Given the description of an element on the screen output the (x, y) to click on. 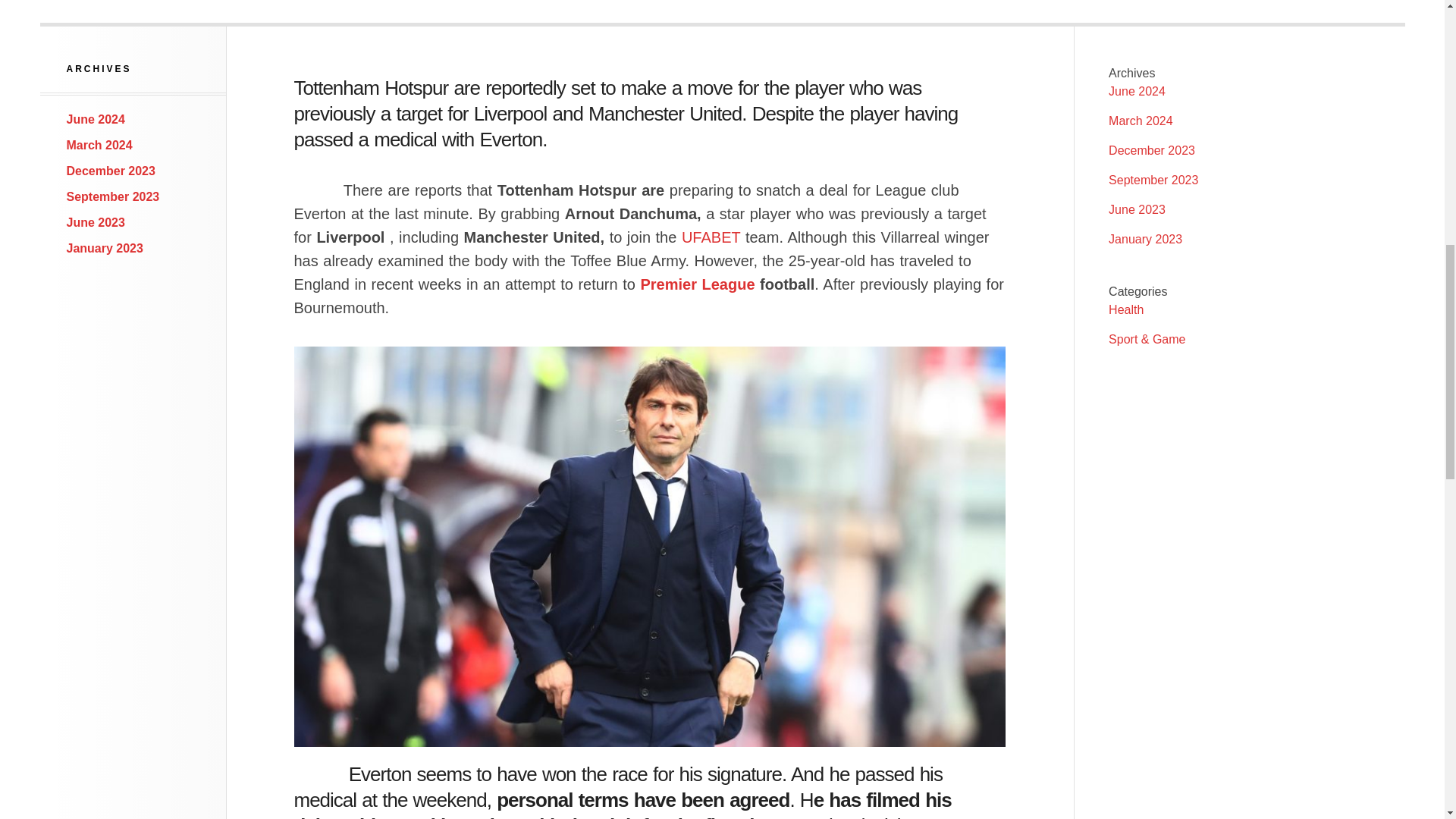
January 2023 (104, 247)
March 2024 (1140, 120)
June 2023 (1137, 209)
September 2023 (1153, 179)
UFABET (710, 237)
June 2024 (95, 119)
September 2023 (113, 196)
March 2024 (99, 144)
Premier League (697, 284)
January 2023 (1145, 238)
June 2023 (95, 222)
December 2023 (1151, 150)
December 2023 (110, 170)
Health (1125, 309)
June 2024 (1137, 91)
